Given the description of an element on the screen output the (x, y) to click on. 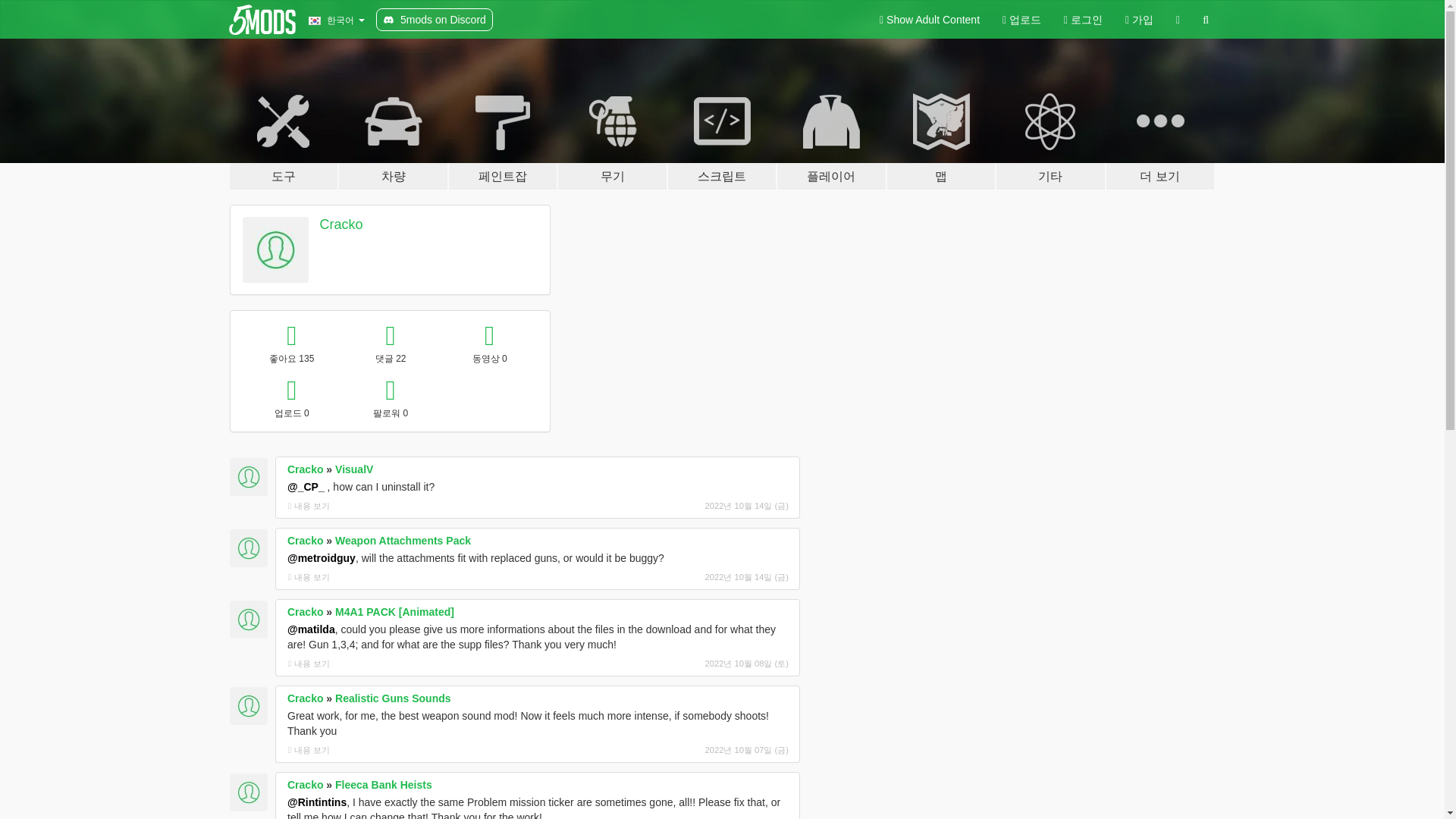
Show Adult Content (929, 19)
Light mode (929, 19)
5mods on Discord (434, 19)
